Given the description of an element on the screen output the (x, y) to click on. 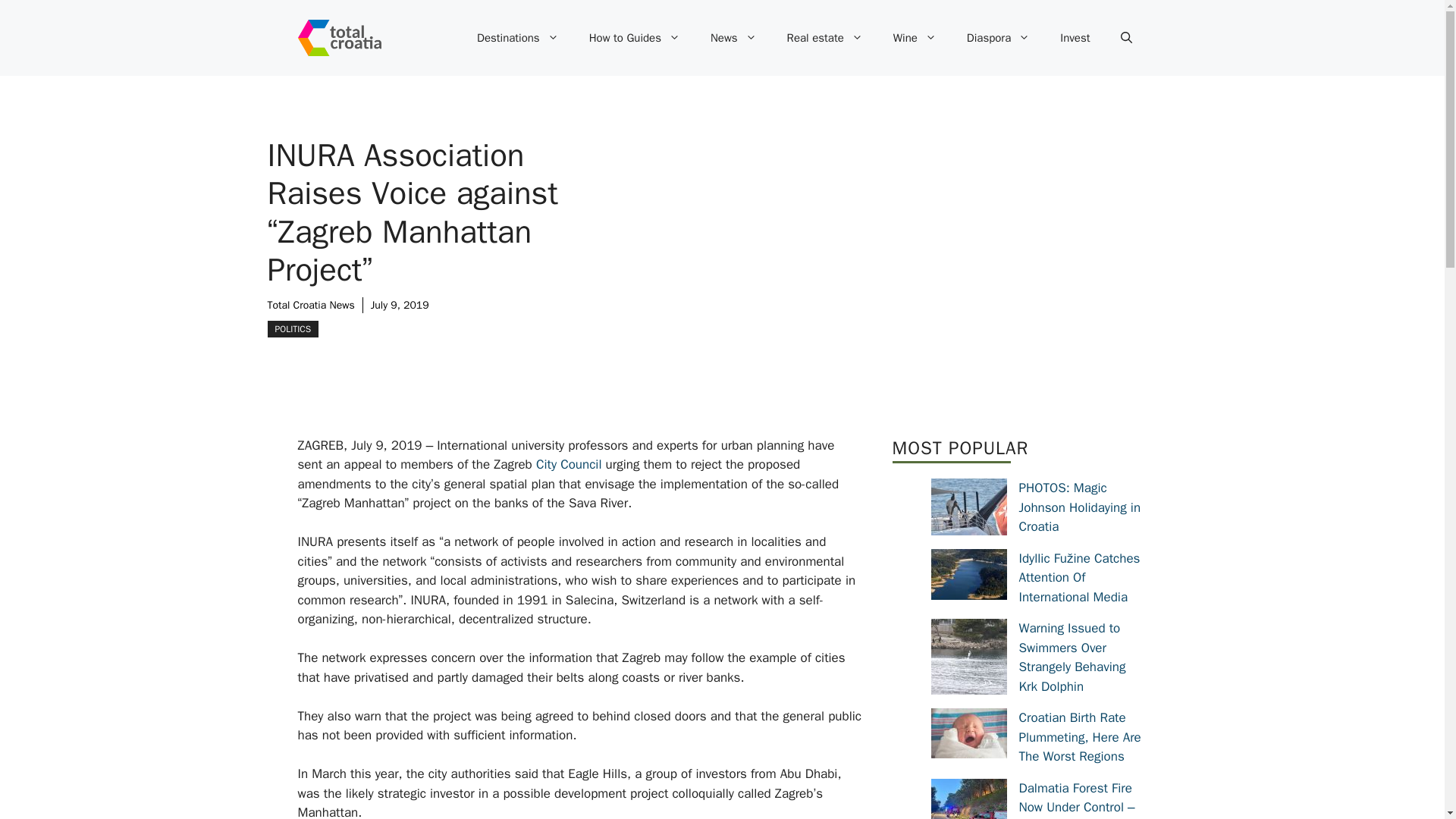
Destinations (517, 37)
Invest (1075, 37)
News (733, 37)
Real estate (824, 37)
Wine (914, 37)
Diaspora (998, 37)
How to Guides (634, 37)
